Given the description of an element on the screen output the (x, y) to click on. 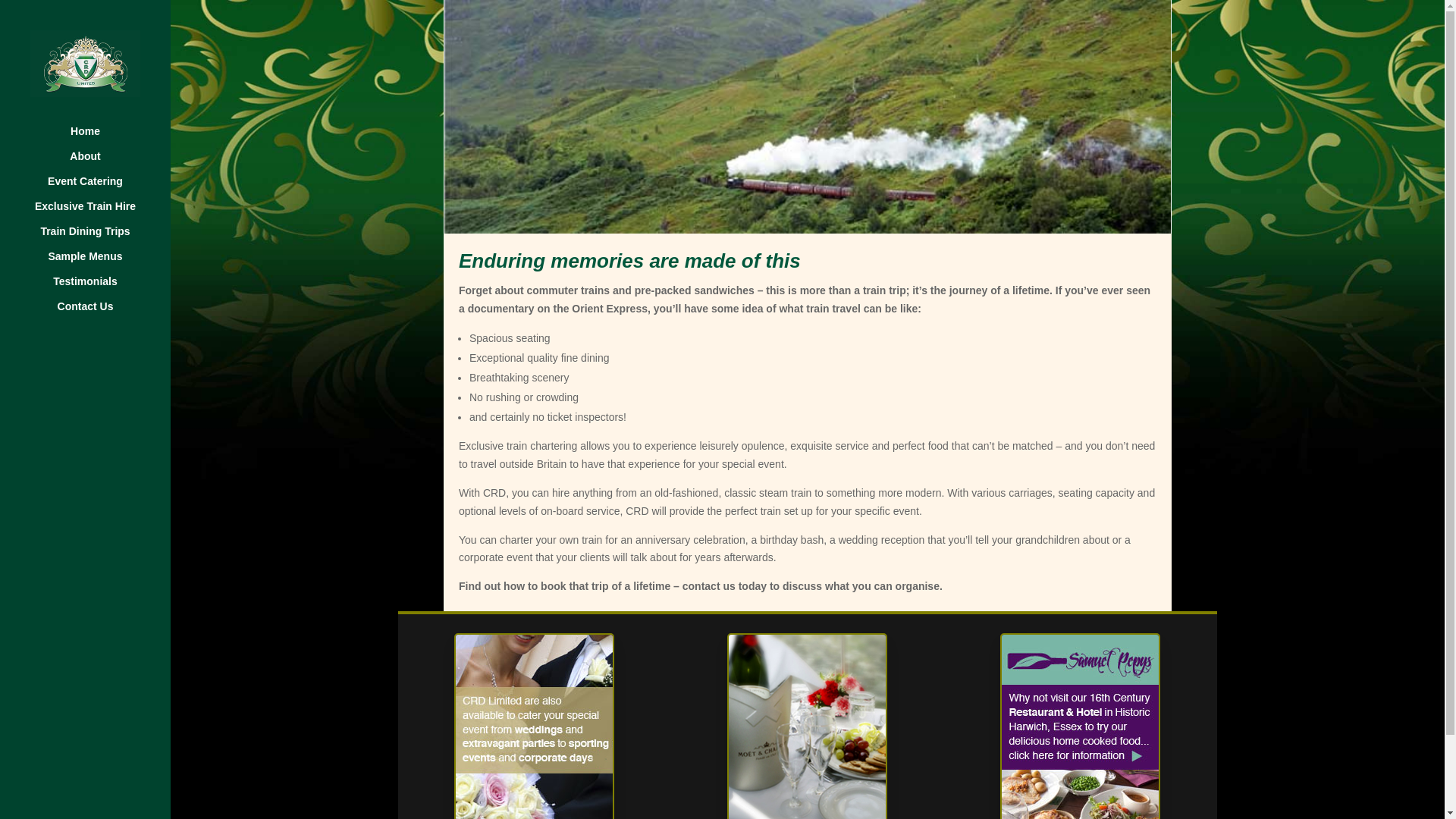
Train Dining Trips (100, 238)
Exclusive Train Hire (100, 213)
Contact Us (100, 313)
Event Catering (100, 188)
About (100, 163)
Sample Menus (100, 263)
Testimonials (100, 288)
Home (100, 138)
